Given the description of an element on the screen output the (x, y) to click on. 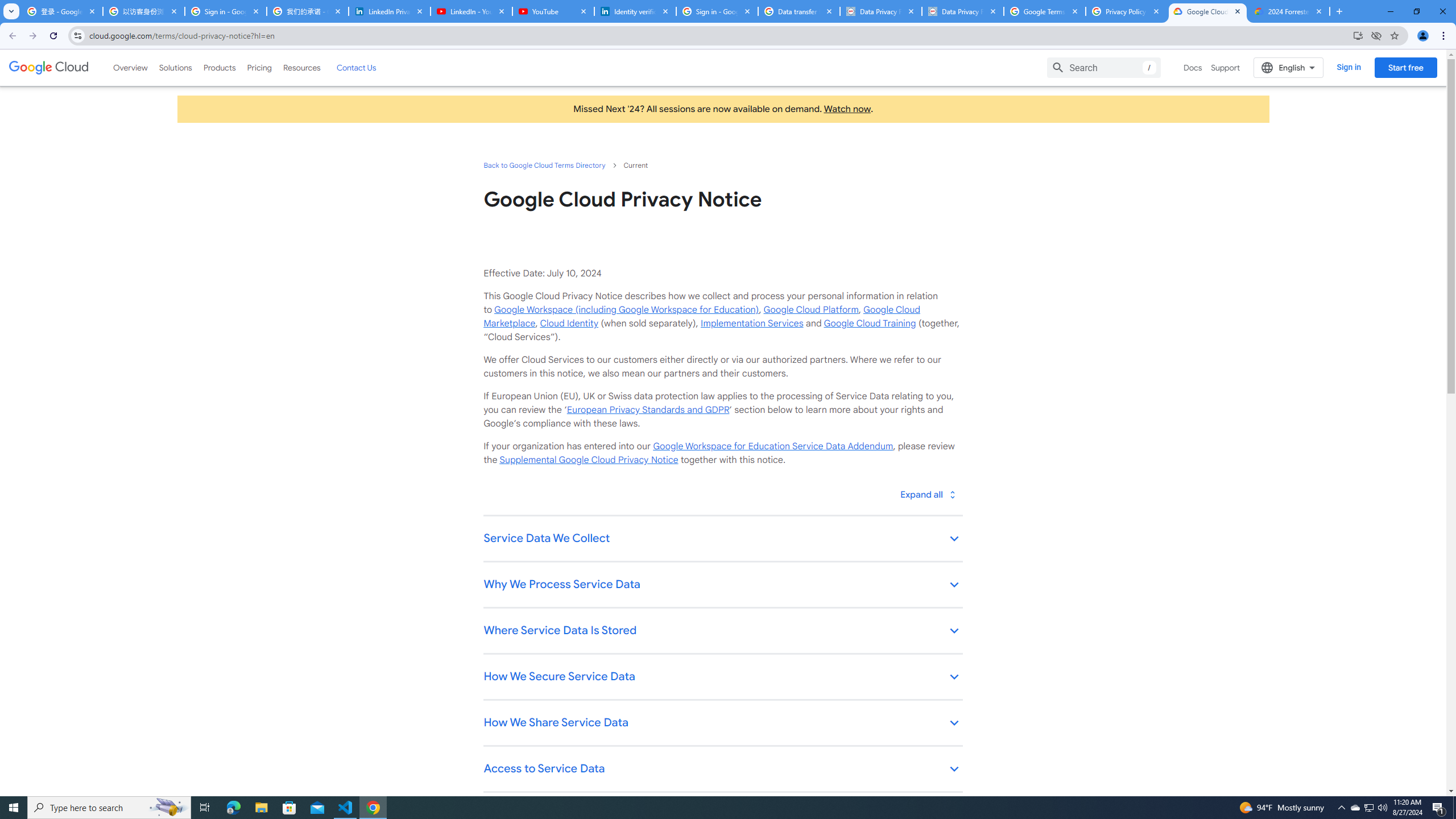
Solutions (175, 67)
Supplemental Google Cloud Privacy Notice (588, 460)
Back to Google Cloud Terms Directory (544, 165)
Google Cloud Privacy Notice (1207, 11)
Overview (130, 67)
Access to Service Data keyboard_arrow_down (722, 769)
Google Workspace (including Google Workspace for Education) (625, 309)
Support (1225, 67)
Implementation Services (751, 323)
Address and search bar (717, 35)
Sign in - Google Accounts (225, 11)
